Given the description of an element on the screen output the (x, y) to click on. 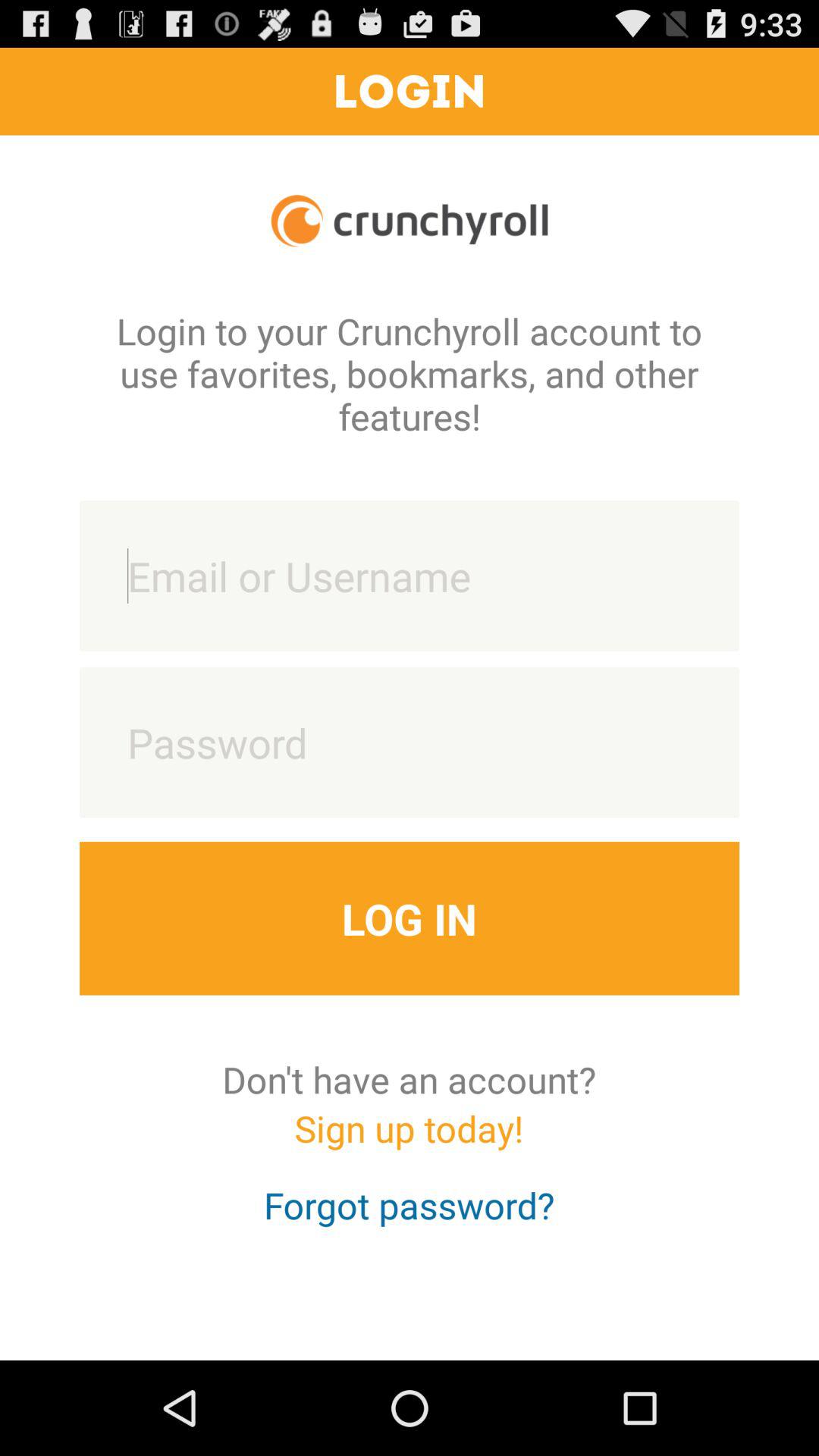
click icon below log in app (409, 1079)
